Given the description of an element on the screen output the (x, y) to click on. 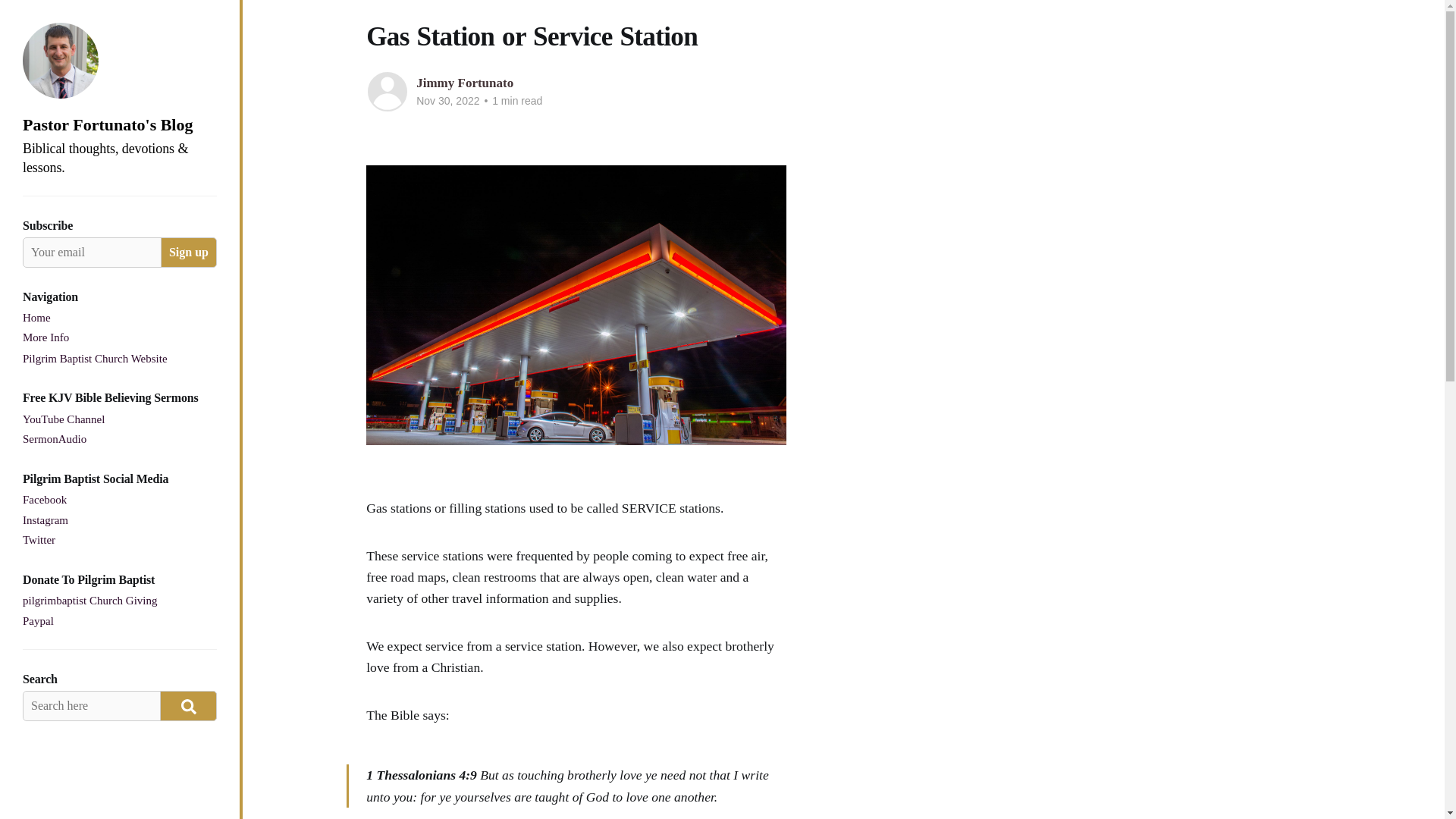
Sign up (188, 252)
Pilgrim Baptist Church Website (95, 359)
Twitter (39, 540)
Home (36, 318)
Instagram (45, 520)
SermonAudio (54, 439)
More Info (45, 338)
Paypal (38, 621)
YouTube Channel (63, 419)
Jimmy Fortunato (464, 83)
